Given the description of an element on the screen output the (x, y) to click on. 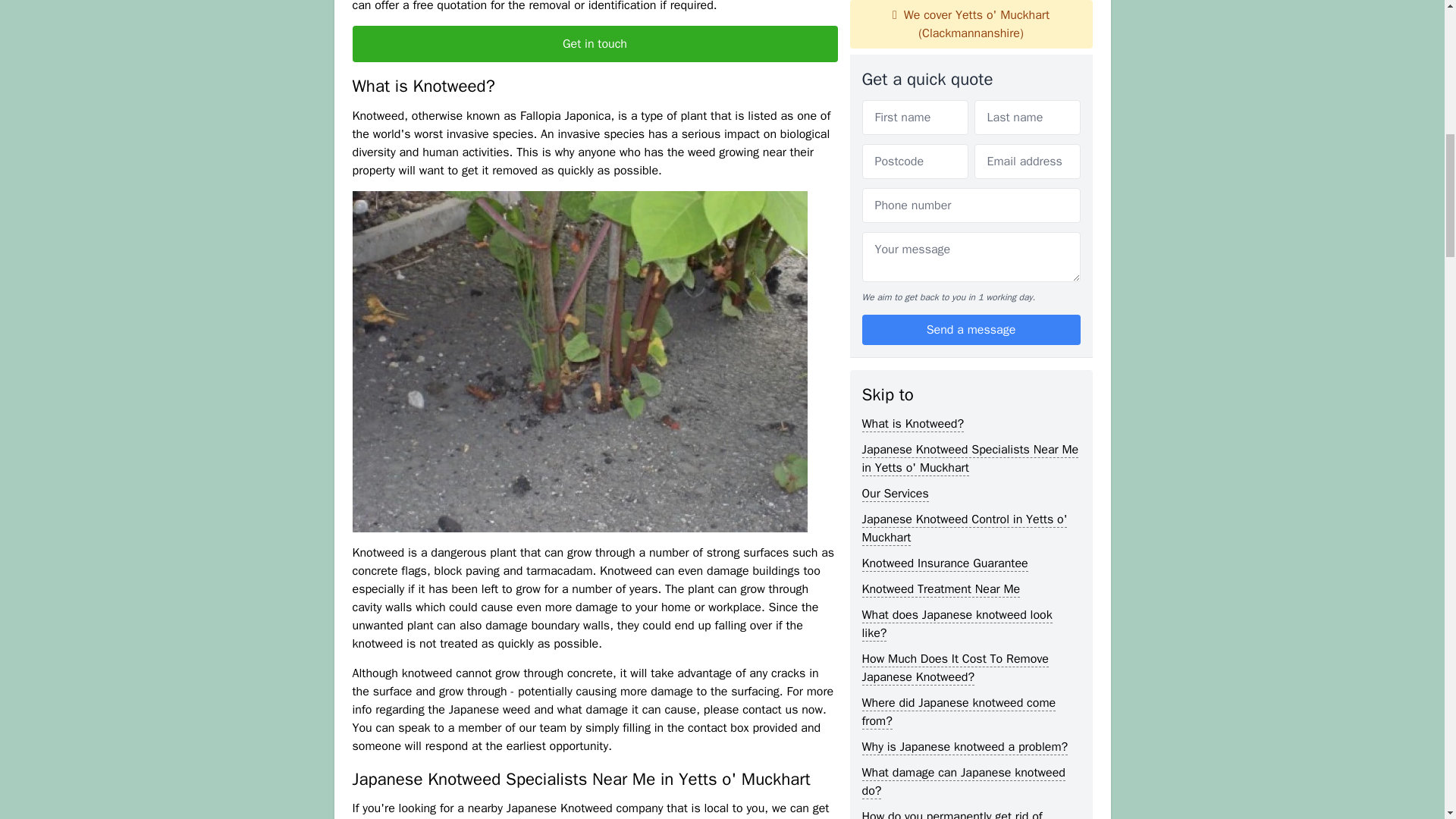
Japanese Knotweed Control in Yetts o' Muckhart (964, 129)
How do you permanently get rid of Japanese knotweed? (951, 426)
Where did Japanese knotweed come from? (958, 312)
Japanese Knotweed Specialists Near Me in Yetts o' Muckhart (969, 59)
How Much Does It Cost To Remove Japanese Knotweed? (954, 268)
Knotweed Insurance Guarantee (944, 163)
How Much Does It Cost To Remove Japanese Knotweed? (954, 268)
What damage can Japanese knotweed do? (962, 382)
Knotweed Insurance Guarantee (944, 163)
What Is an Insurance Backed Guarantee? (938, 540)
Knotweed Treatment Near Me (940, 189)
Get in touch (594, 43)
How do you permanently get rid of Japanese knotweed? (951, 426)
What damage can Japanese knotweed do? (962, 382)
Japanese Knotweed Control in Yetts o' Muckhart (964, 129)
